Given the description of an element on the screen output the (x, y) to click on. 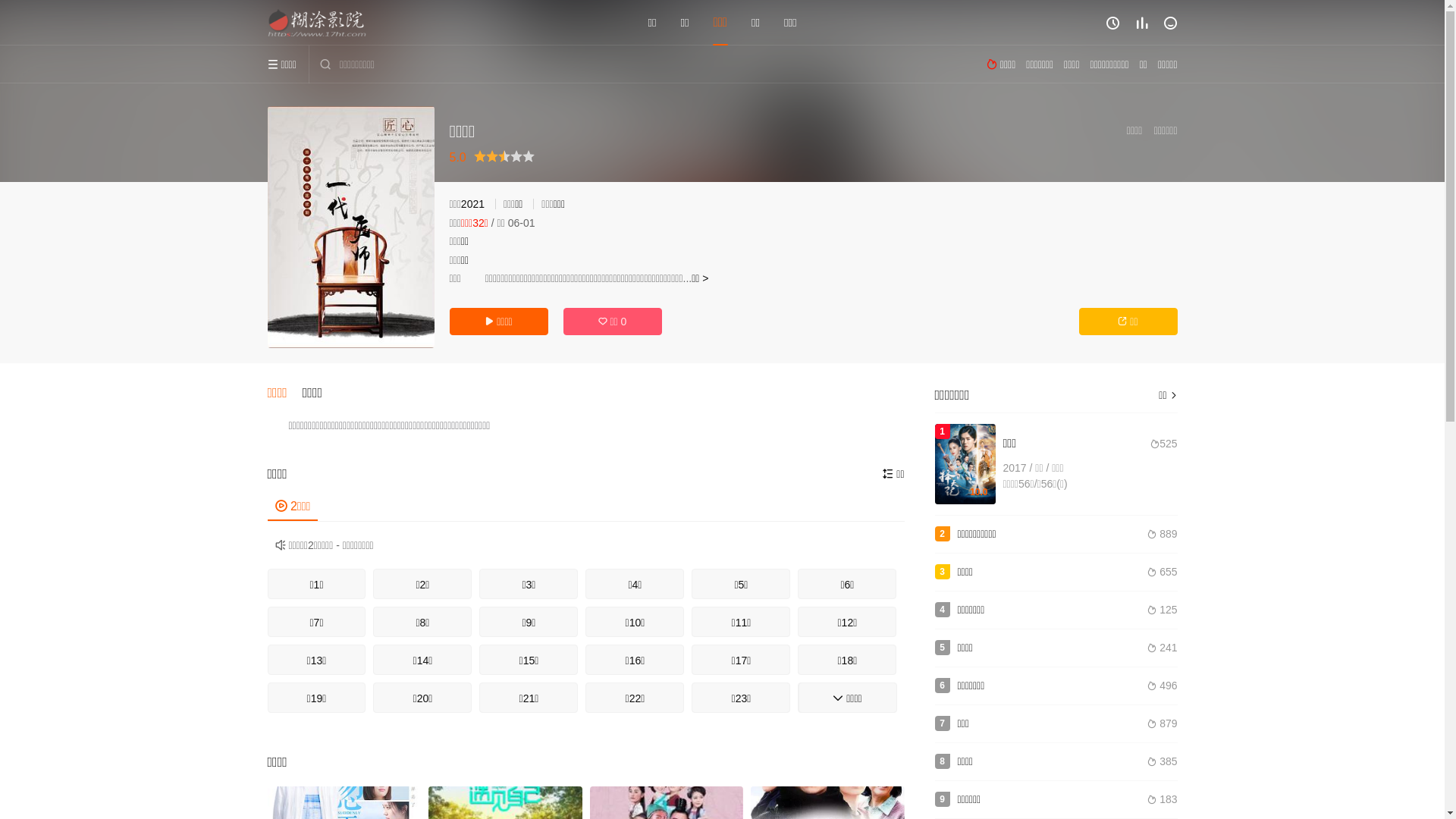
2021 Element type: text (472, 203)
